Given the description of an element on the screen output the (x, y) to click on. 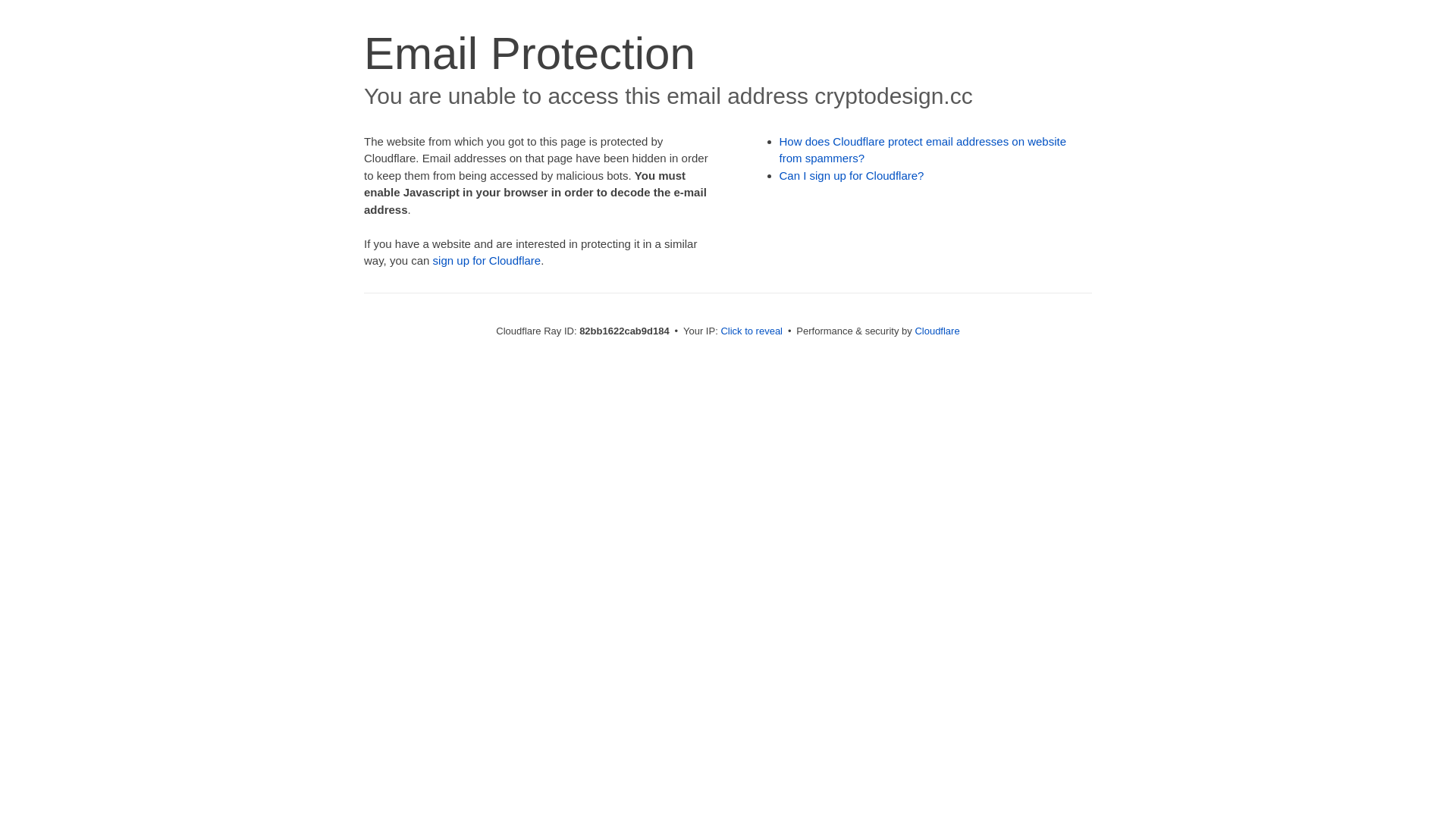
Cloudflare Element type: text (936, 330)
sign up for Cloudflare Element type: text (487, 260)
Click to reveal Element type: text (751, 330)
Can I sign up for Cloudflare? Element type: text (851, 175)
